Given the description of an element on the screen output the (x, y) to click on. 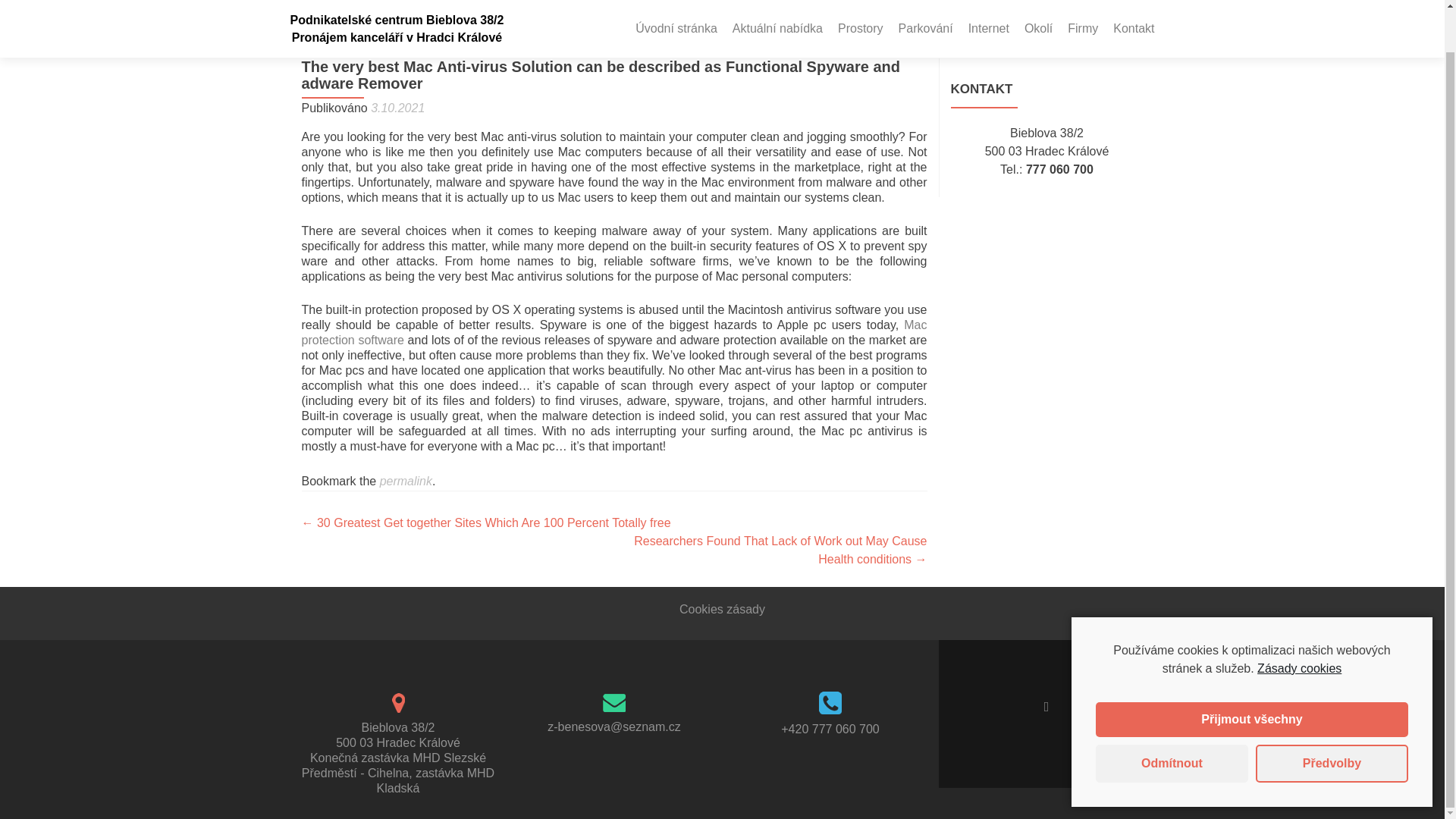
permalink (406, 481)
3.10.2021 (398, 107)
Mac protection software (614, 332)
